Given the description of an element on the screen output the (x, y) to click on. 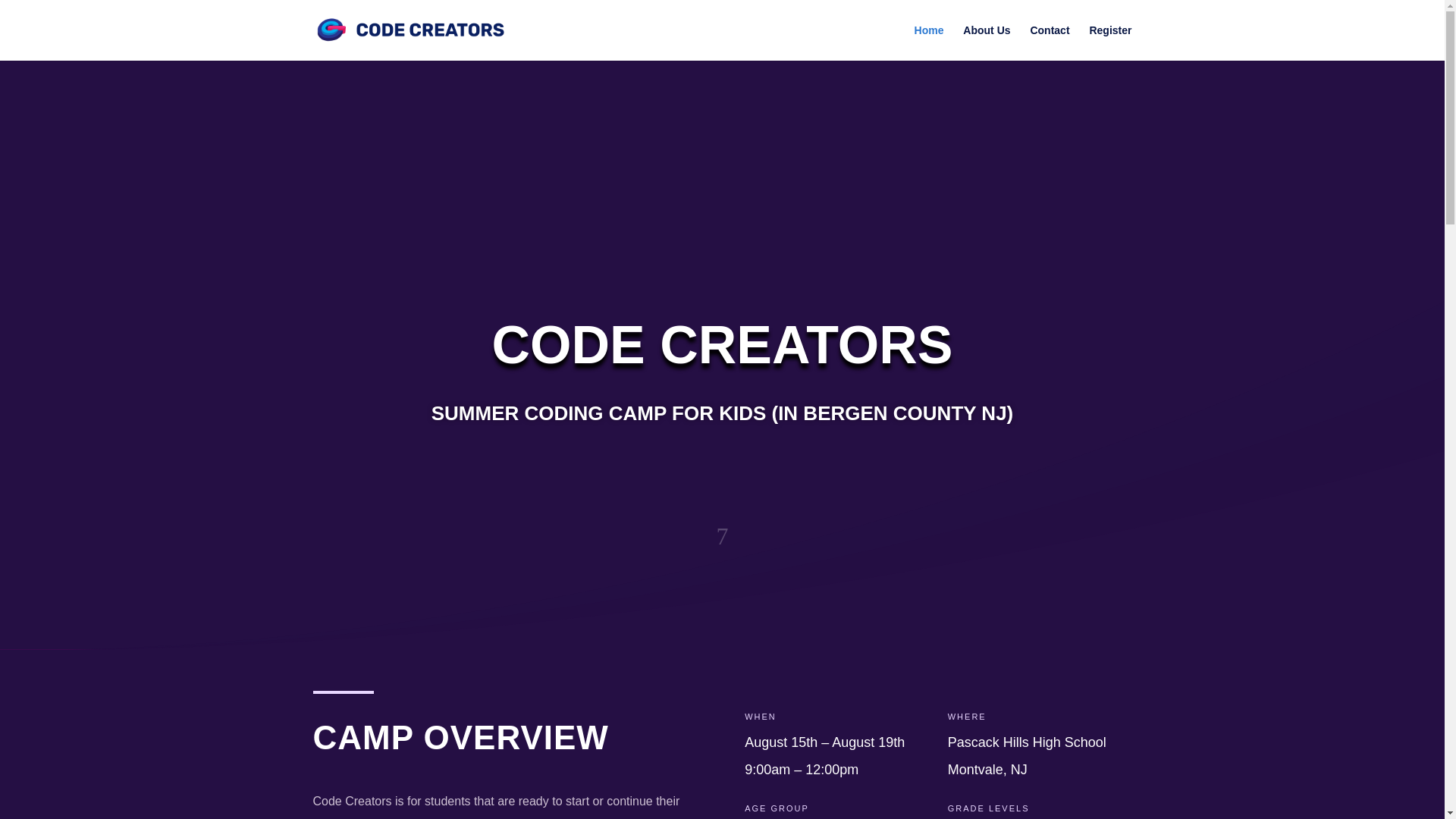
About Us (986, 42)
Register (1110, 42)
Contact (1048, 42)
